Given the description of an element on the screen output the (x, y) to click on. 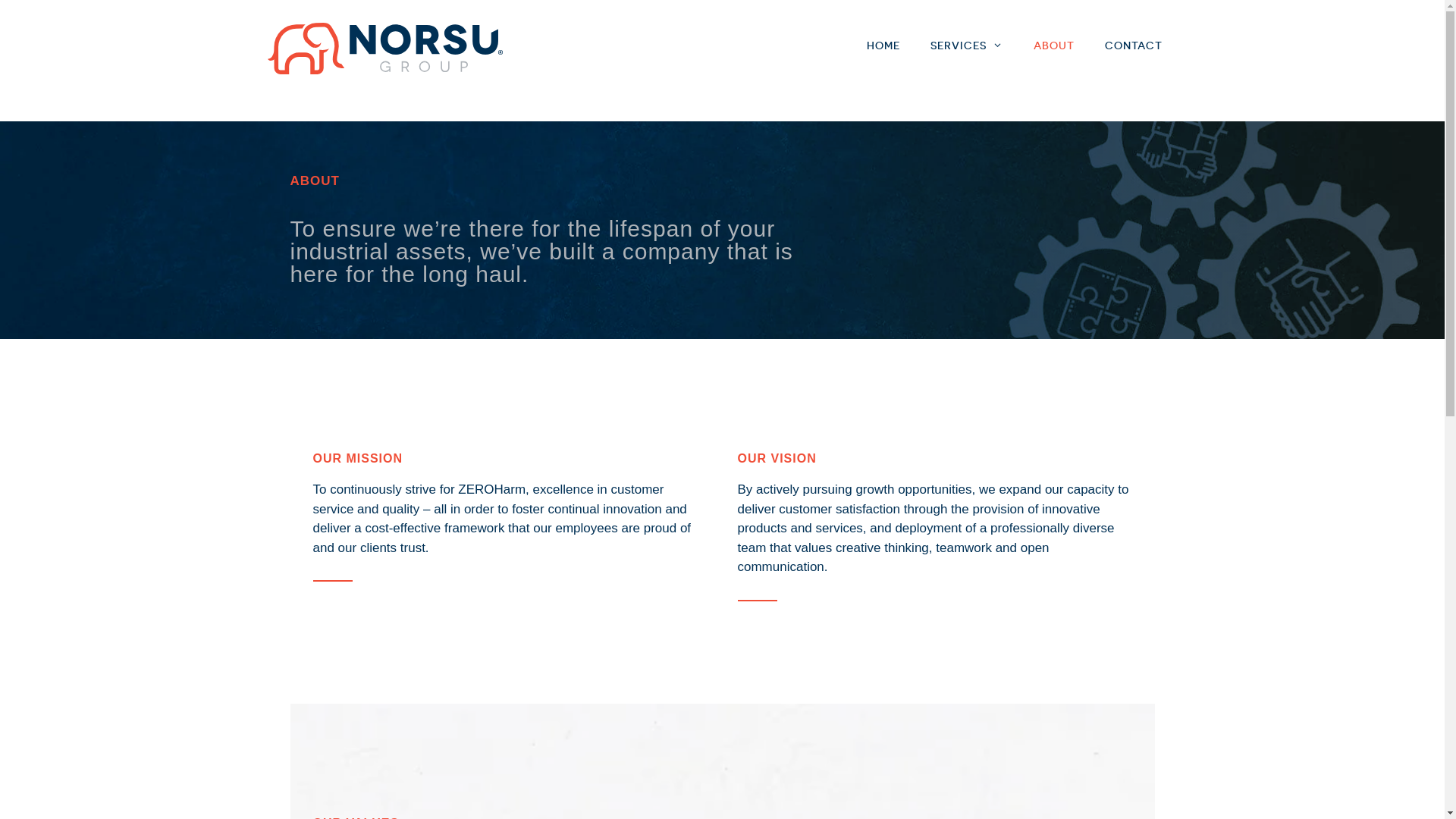
ABOUT Element type: text (1052, 45)
CONTACT Element type: text (1132, 45)
HOME Element type: text (883, 45)
SERVICES Element type: text (966, 45)
